Given the description of an element on the screen output the (x, y) to click on. 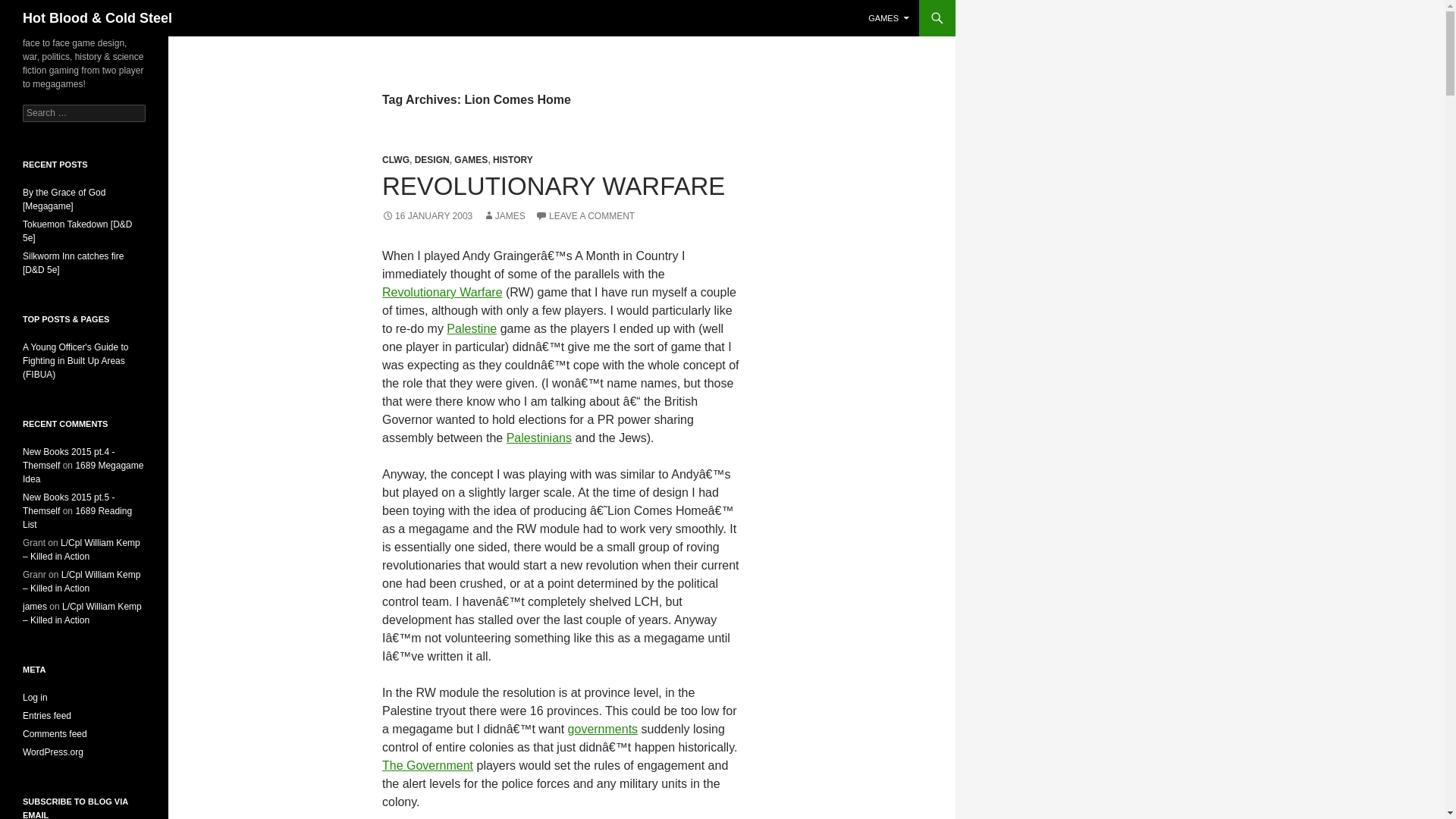
JAMES (504, 215)
Palestinians (539, 437)
REVOLUTIONARY WARFARE (553, 185)
GAMES (888, 18)
Palestine (471, 328)
HISTORY (512, 159)
LEAVE A COMMENT (584, 215)
Revolutionary Warfare (441, 291)
Palestinian people (539, 437)
Guerrilla warfare (441, 291)
